Given the description of an element on the screen output the (x, y) to click on. 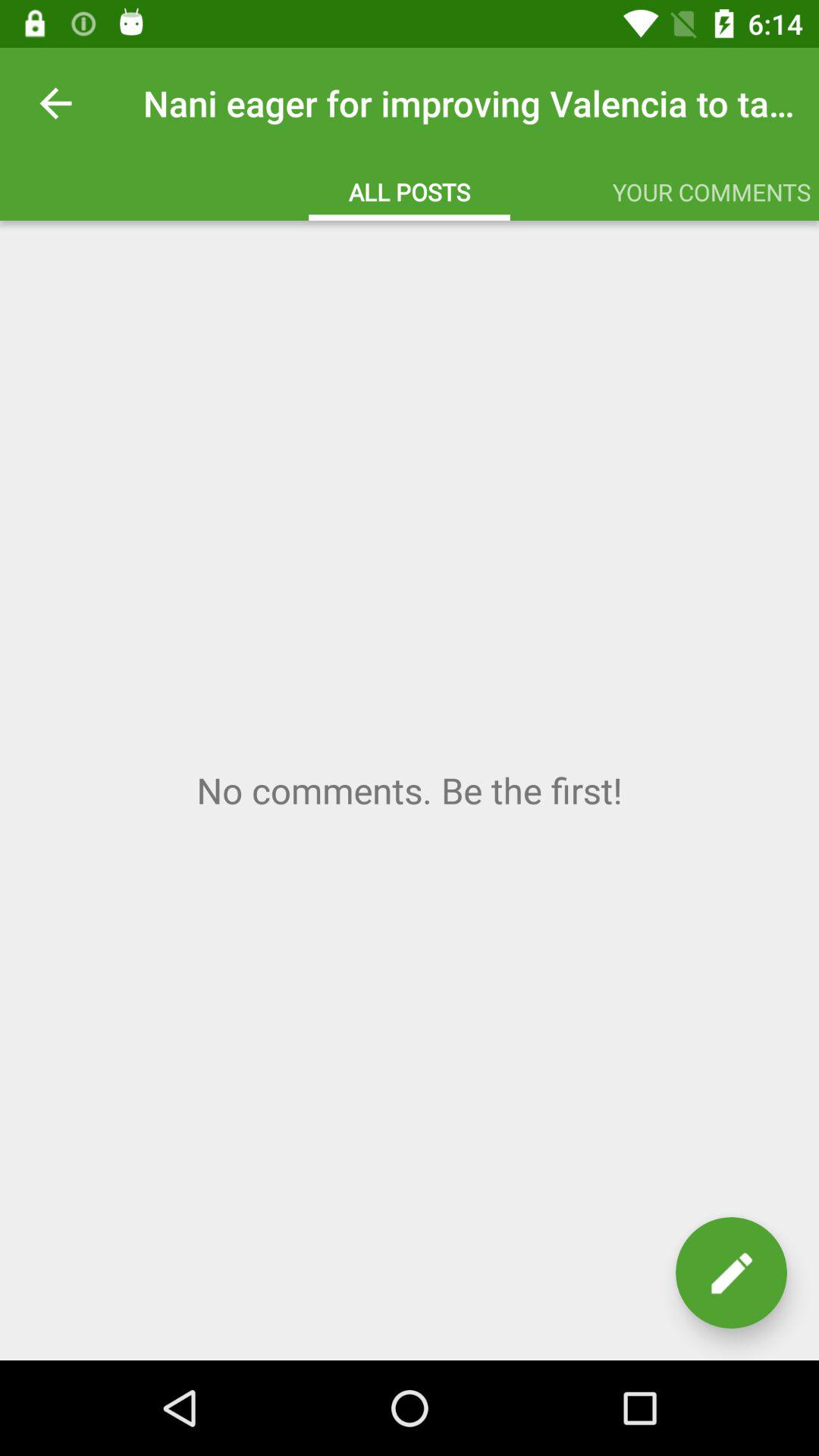
add comment (409, 790)
